Given the description of an element on the screen output the (x, y) to click on. 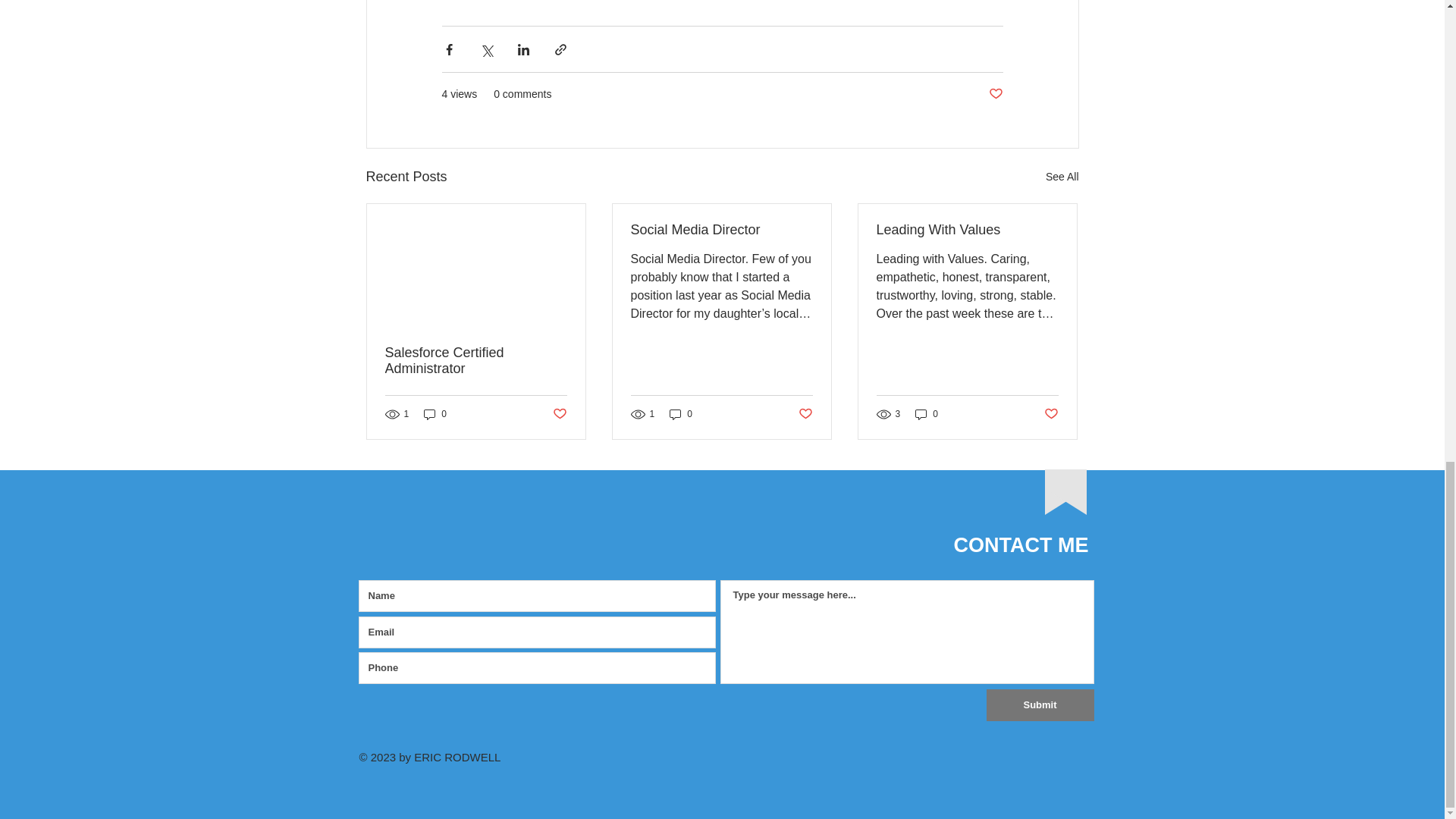
0 (435, 413)
Social Media Director (721, 229)
Post not marked as liked (1050, 414)
See All (1061, 177)
Leading With Values (967, 229)
Salesforce Certified Administrator (476, 360)
Submit (1039, 705)
0 (926, 413)
0 (681, 413)
Post not marked as liked (558, 414)
Post not marked as liked (995, 94)
Post not marked as liked (804, 414)
